Given the description of an element on the screen output the (x, y) to click on. 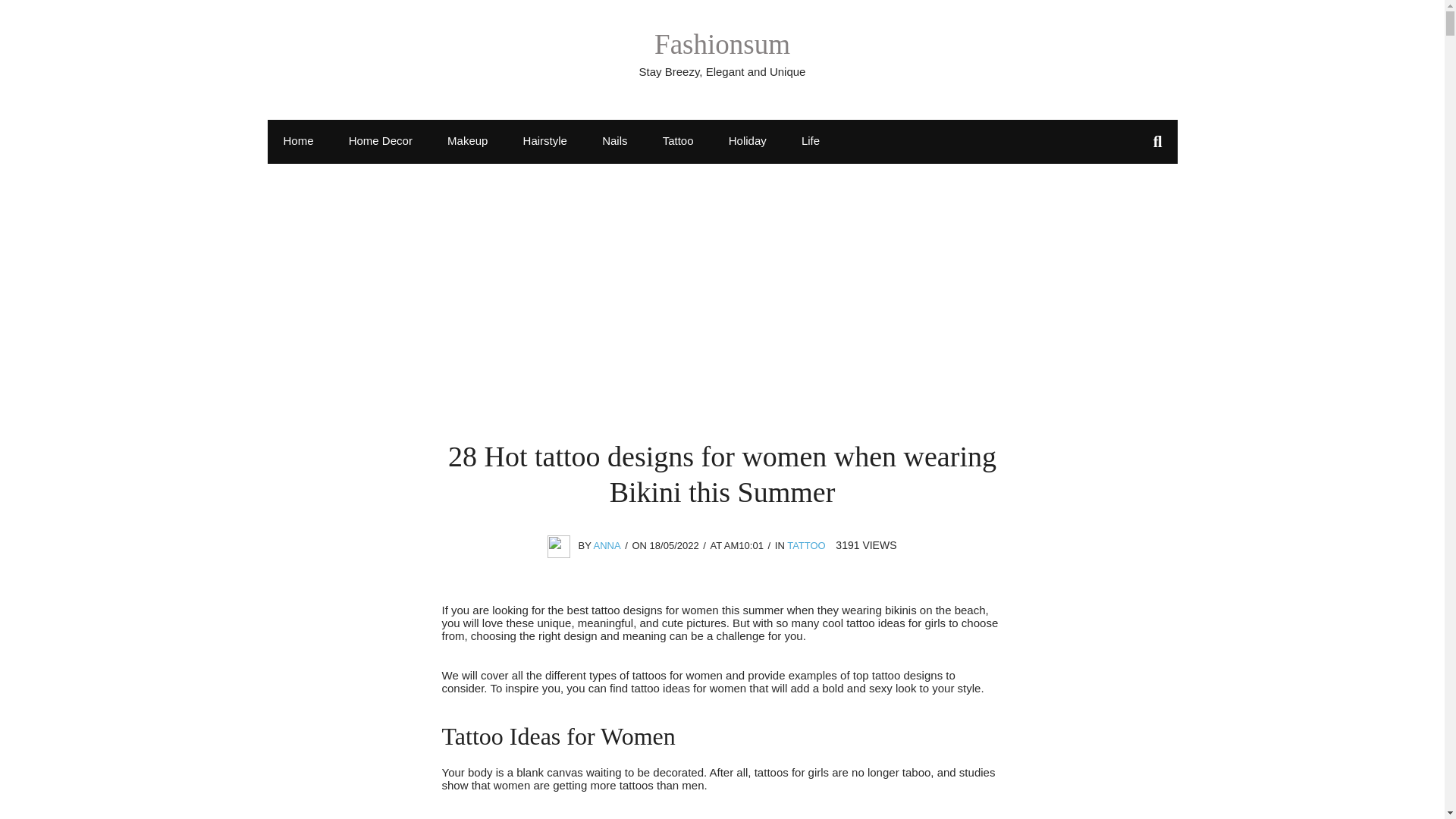
Advertisement (722, 326)
Fashionsum (721, 43)
Nails (614, 140)
TATTOO (806, 545)
Tattoo (678, 140)
Hairstyle (544, 140)
Home Decor (380, 140)
Home (297, 140)
Makeup (466, 140)
Posts by Anna (606, 545)
Life (810, 140)
Holiday (748, 140)
Search (28, 15)
ANNA (606, 545)
Fashionsum (721, 43)
